Given the description of an element on the screen output the (x, y) to click on. 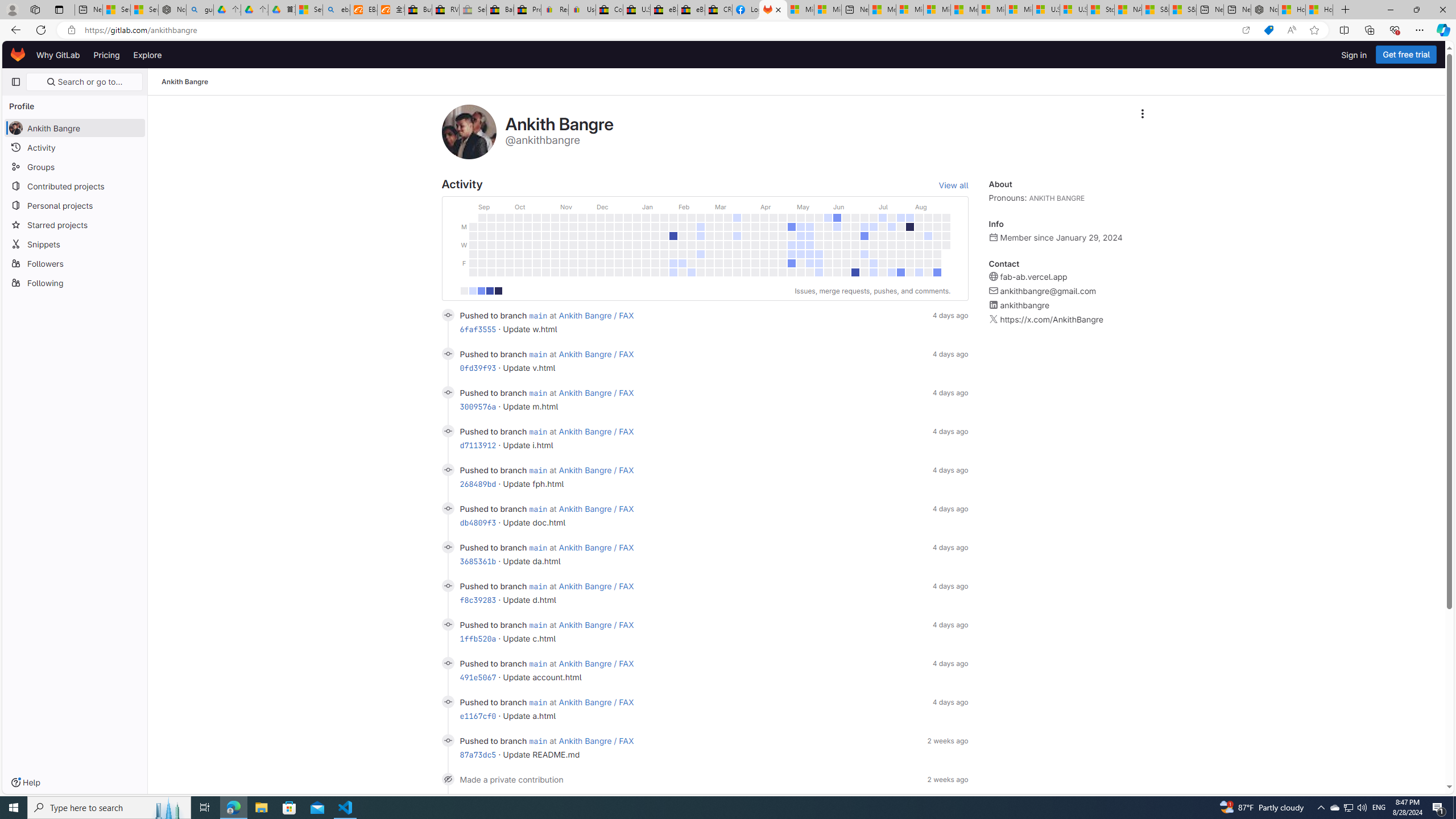
main (537, 741)
6faf3555 (478, 329)
ebay - Search (336, 9)
View all (953, 184)
